Given the description of an element on the screen output the (x, y) to click on. 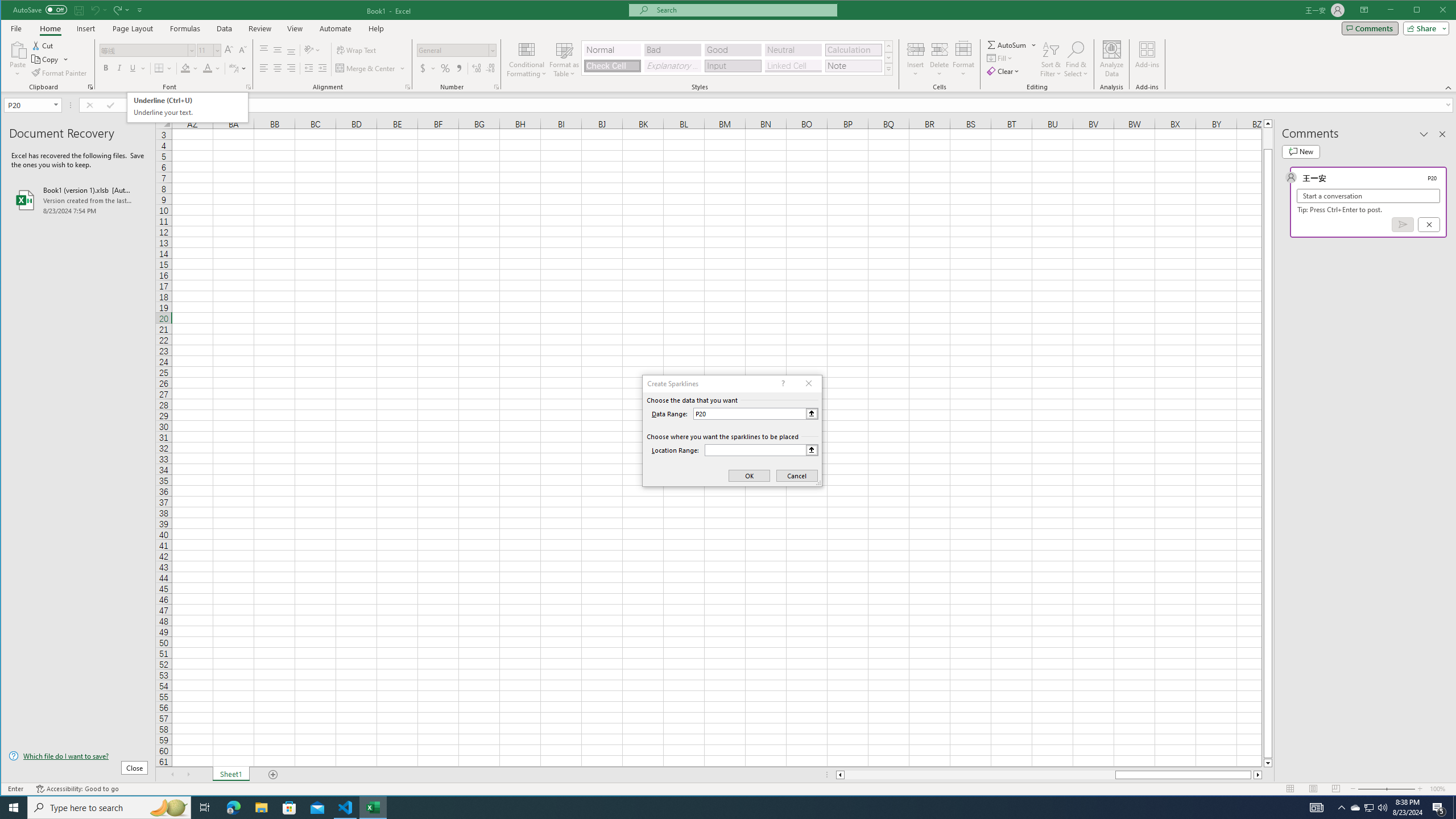
Increase Decimal (476, 68)
Font (143, 50)
Increase Font Size (228, 49)
Maximize (1432, 11)
Merge & Center (365, 68)
Delete (939, 59)
Bad (672, 49)
Accounting Number Format (427, 68)
